Given the description of an element on the screen output the (x, y) to click on. 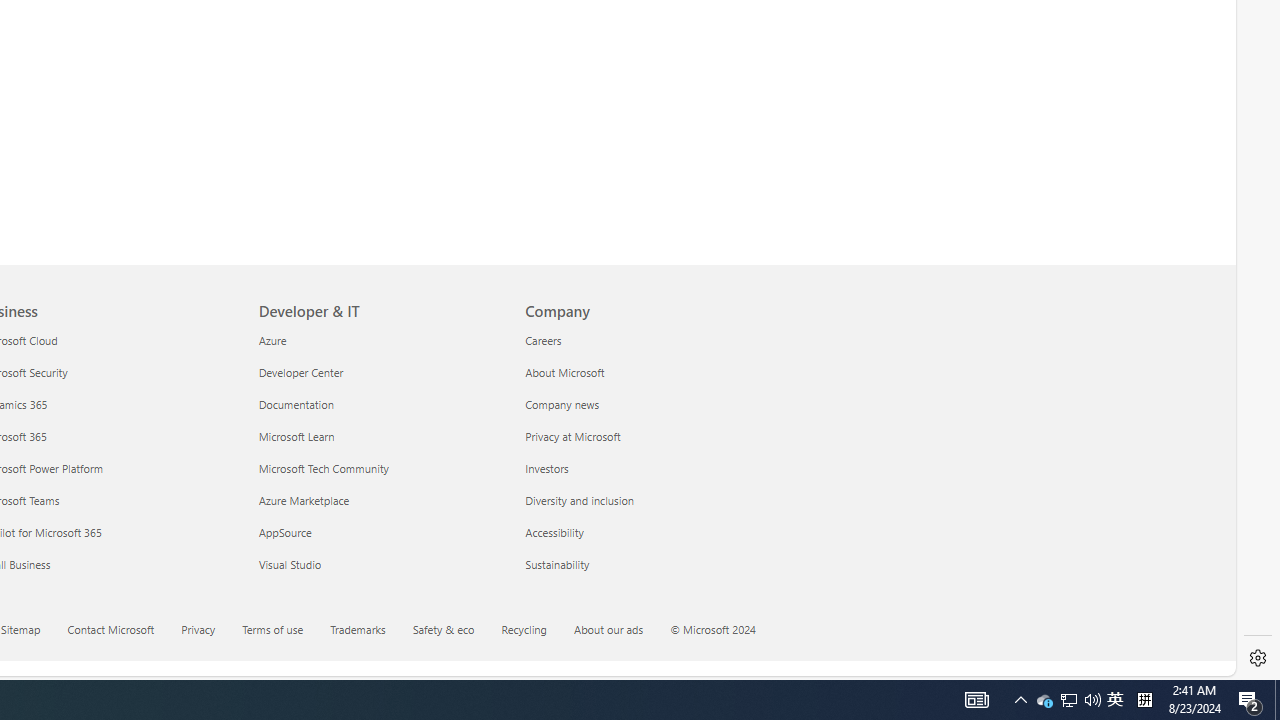
Investors Company (546, 467)
Terms of use (284, 631)
About our ads (608, 628)
Safety & eco (455, 631)
Privacy at Microsoft (646, 435)
Visual Studio Developer & IT (290, 563)
Sustainability (646, 564)
Privacy at Microsoft Company (572, 435)
Developer Center (379, 371)
Microsoft Tech Community (379, 468)
Trademarks (369, 631)
Sitemap (20, 628)
Trademarks (358, 628)
Diversity and inclusion (646, 499)
Developer Center Developer & IT (301, 372)
